Given the description of an element on the screen output the (x, y) to click on. 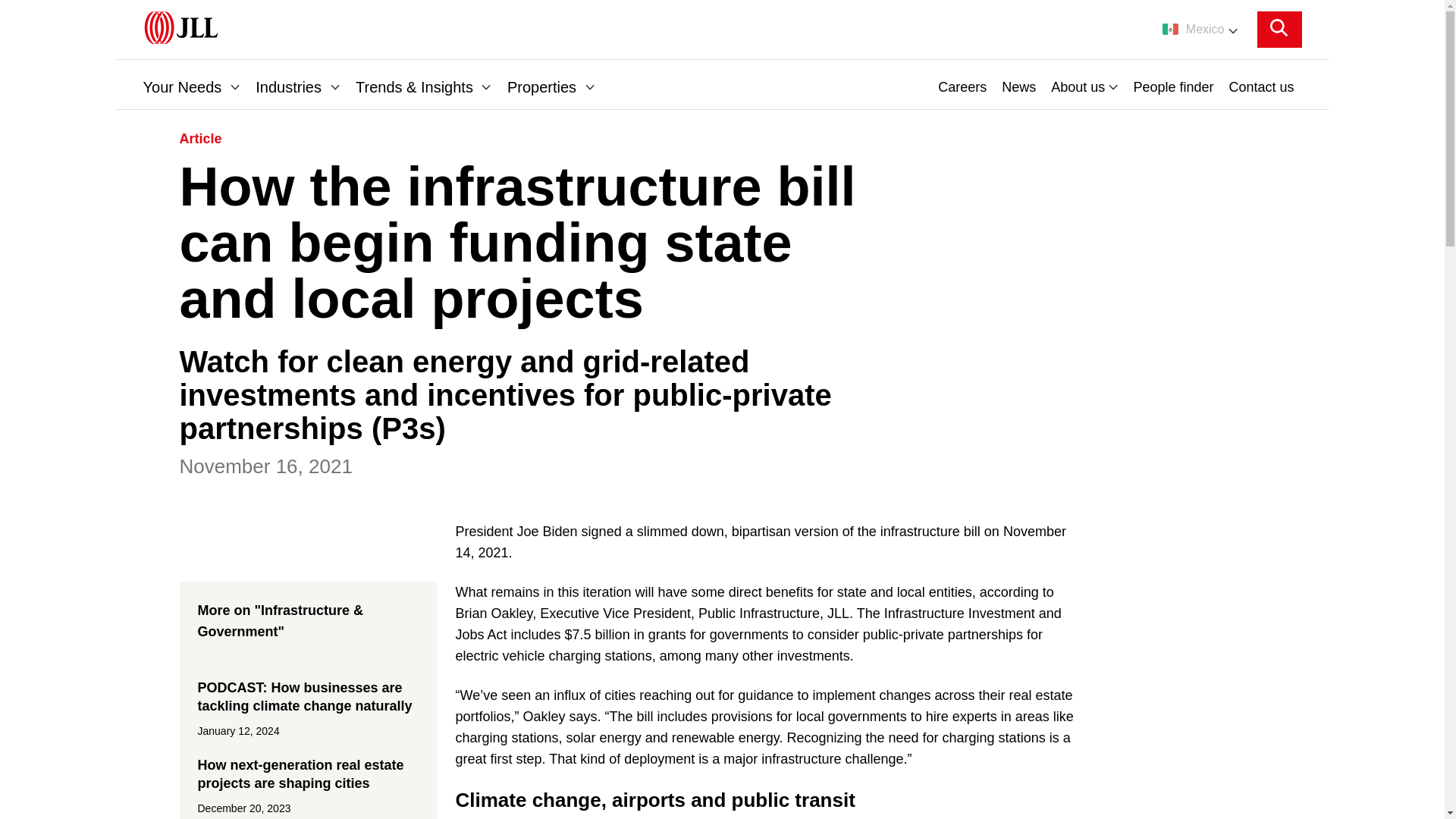
Mexico (1200, 29)
